Given the description of an element on the screen output the (x, y) to click on. 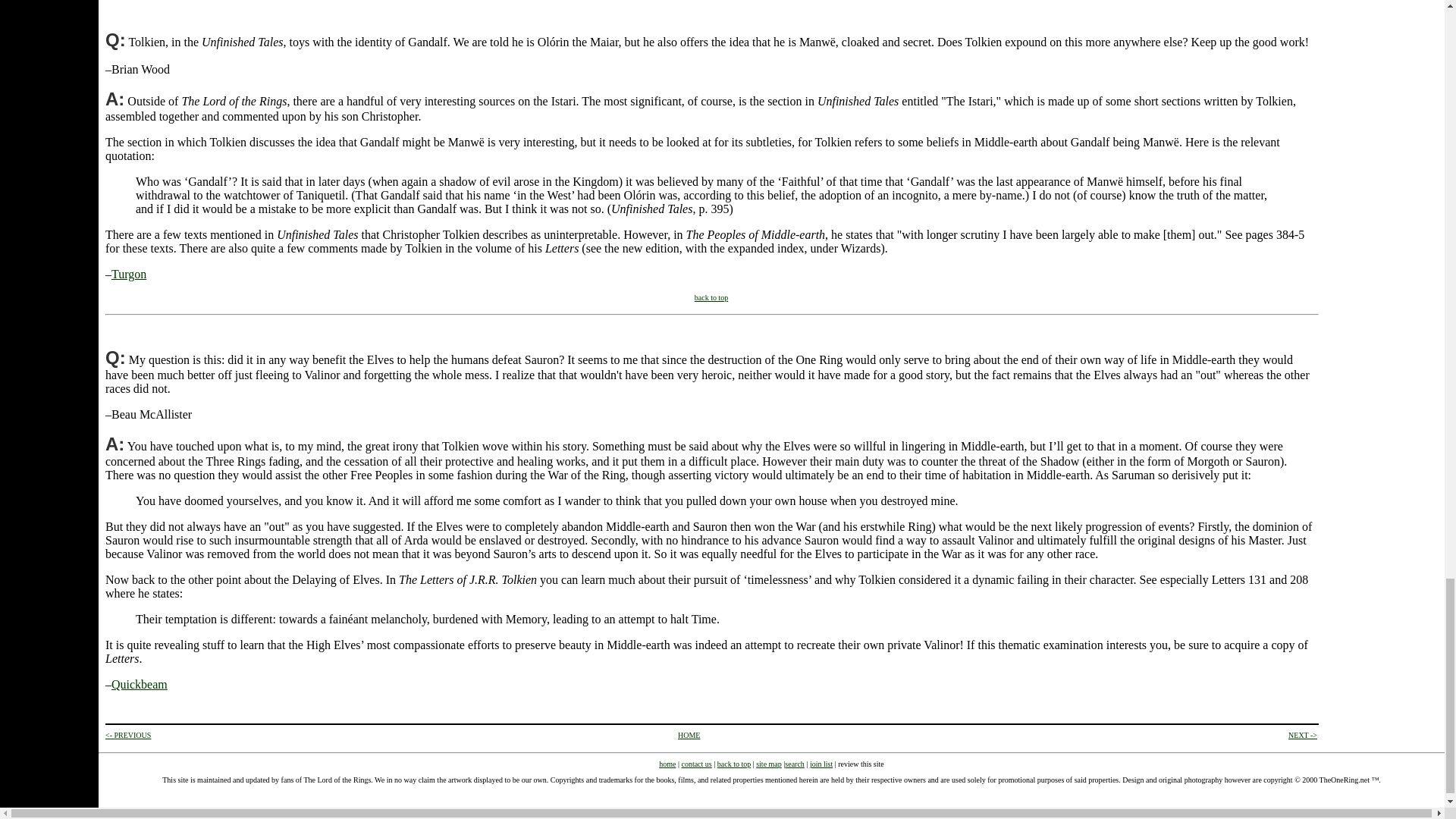
HOME (689, 735)
Turgon (129, 273)
back to top (711, 297)
Quickbeam (139, 684)
